Given the description of an element on the screen output the (x, y) to click on. 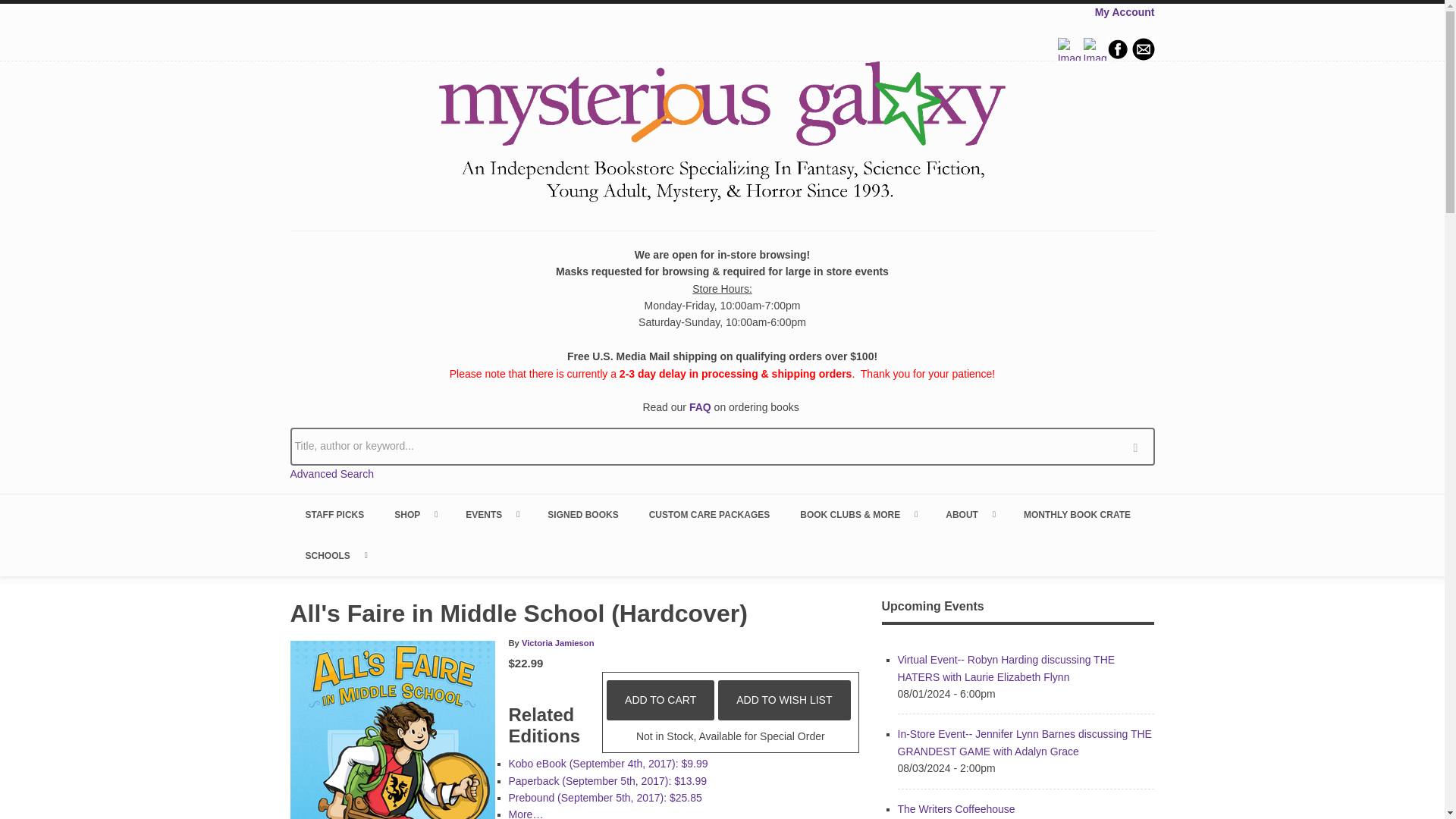
Title, author or keyword... (721, 446)
SHOP (413, 514)
Add to Cart (660, 699)
Home (722, 134)
STAFF PICKS (333, 514)
Advanced Search (331, 473)
EVENTS (490, 514)
My Account (1124, 11)
Add to Wish List (783, 699)
FAQ (699, 407)
